Given the description of an element on the screen output the (x, y) to click on. 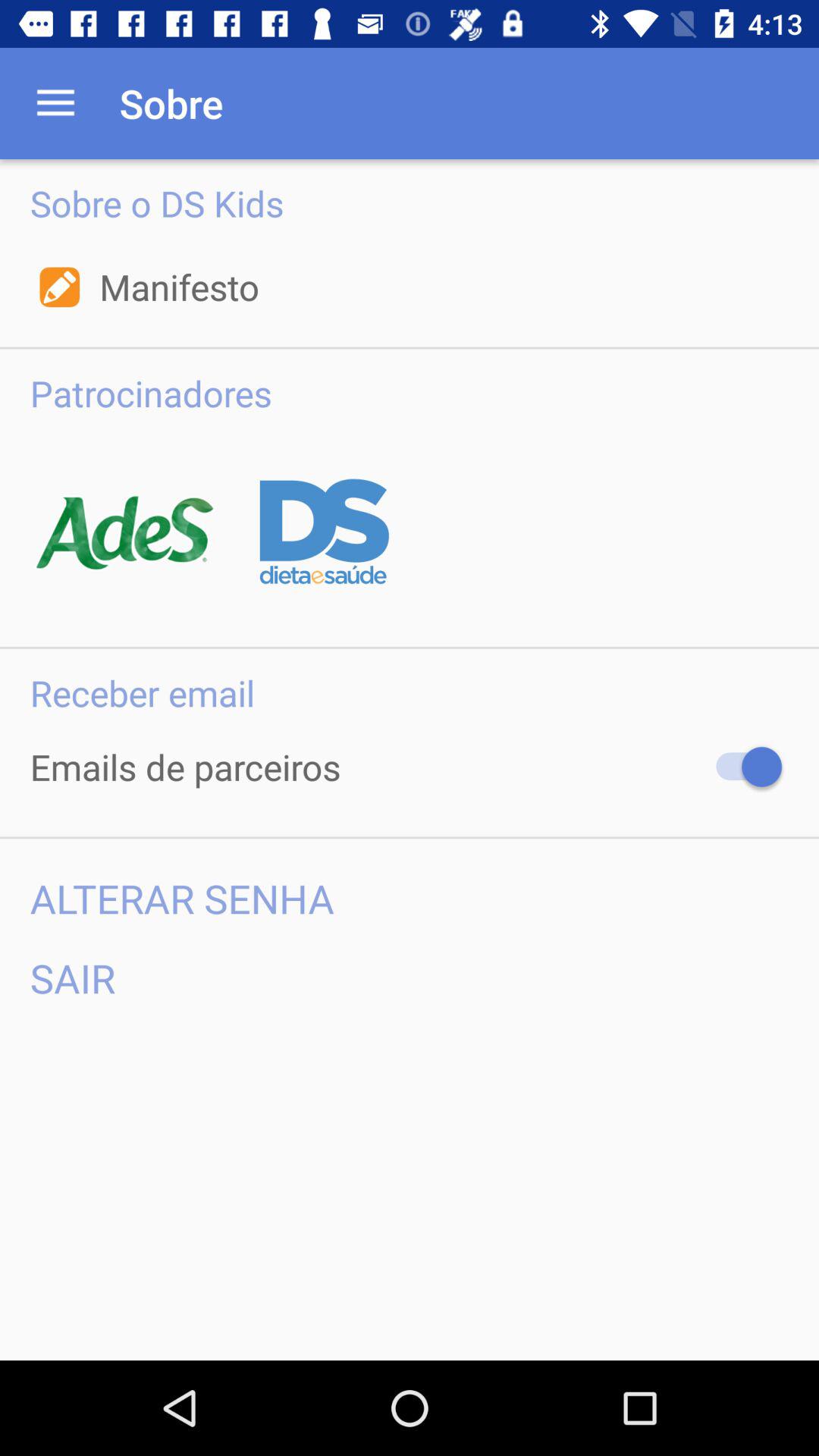
toggle email preferences (741, 766)
